Given the description of an element on the screen output the (x, y) to click on. 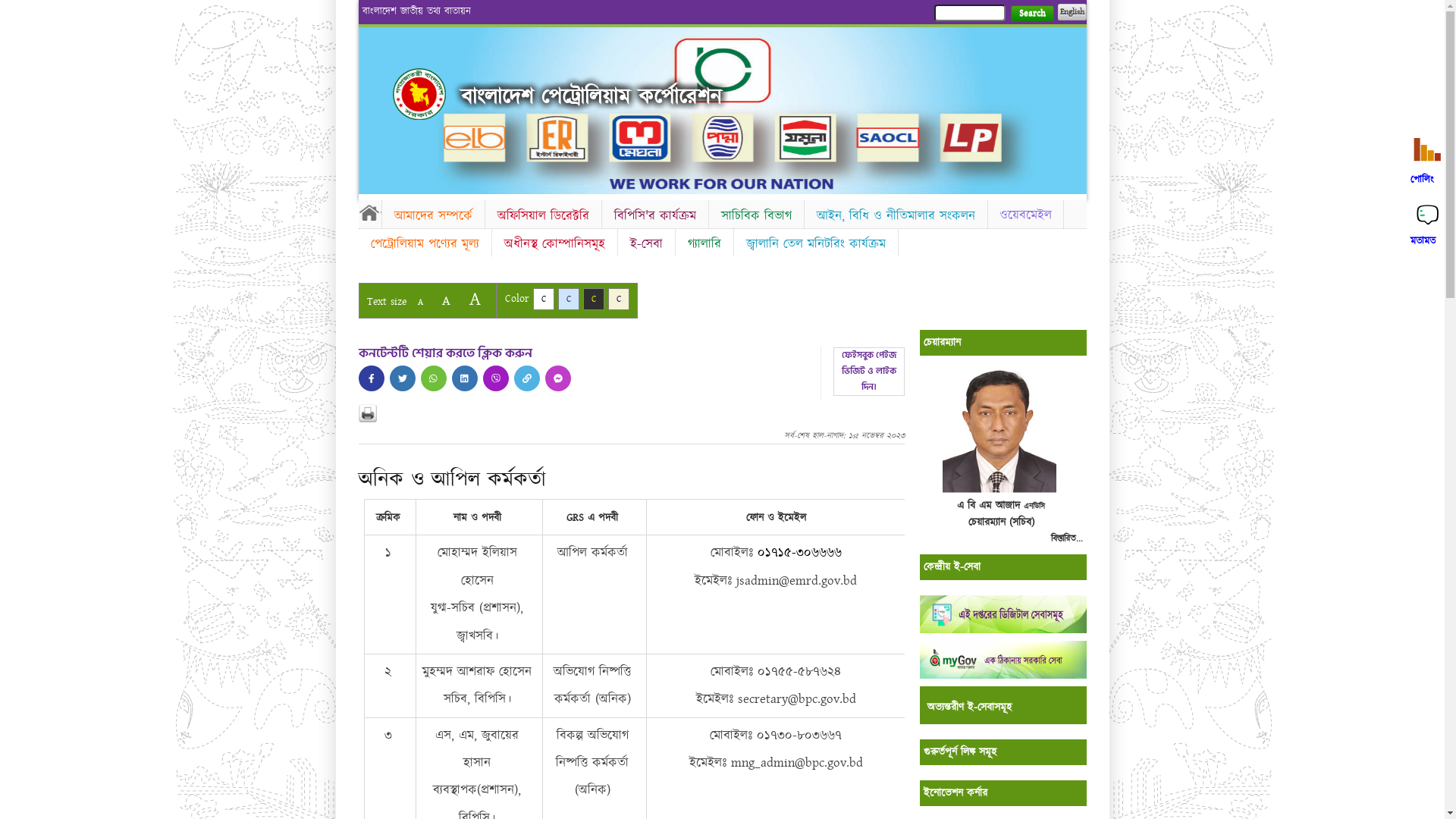
C Element type: text (592, 299)
English Element type: text (1071, 11)
A Element type: text (445, 300)
C Element type: text (618, 299)
C Element type: text (568, 299)
Home Element type: hover (418, 93)
A Element type: text (474, 298)
A Element type: text (419, 301)
Search Element type: text (1031, 13)
Home Element type: hover (368, 211)
C Element type: text (542, 299)
